Given the description of an element on the screen output the (x, y) to click on. 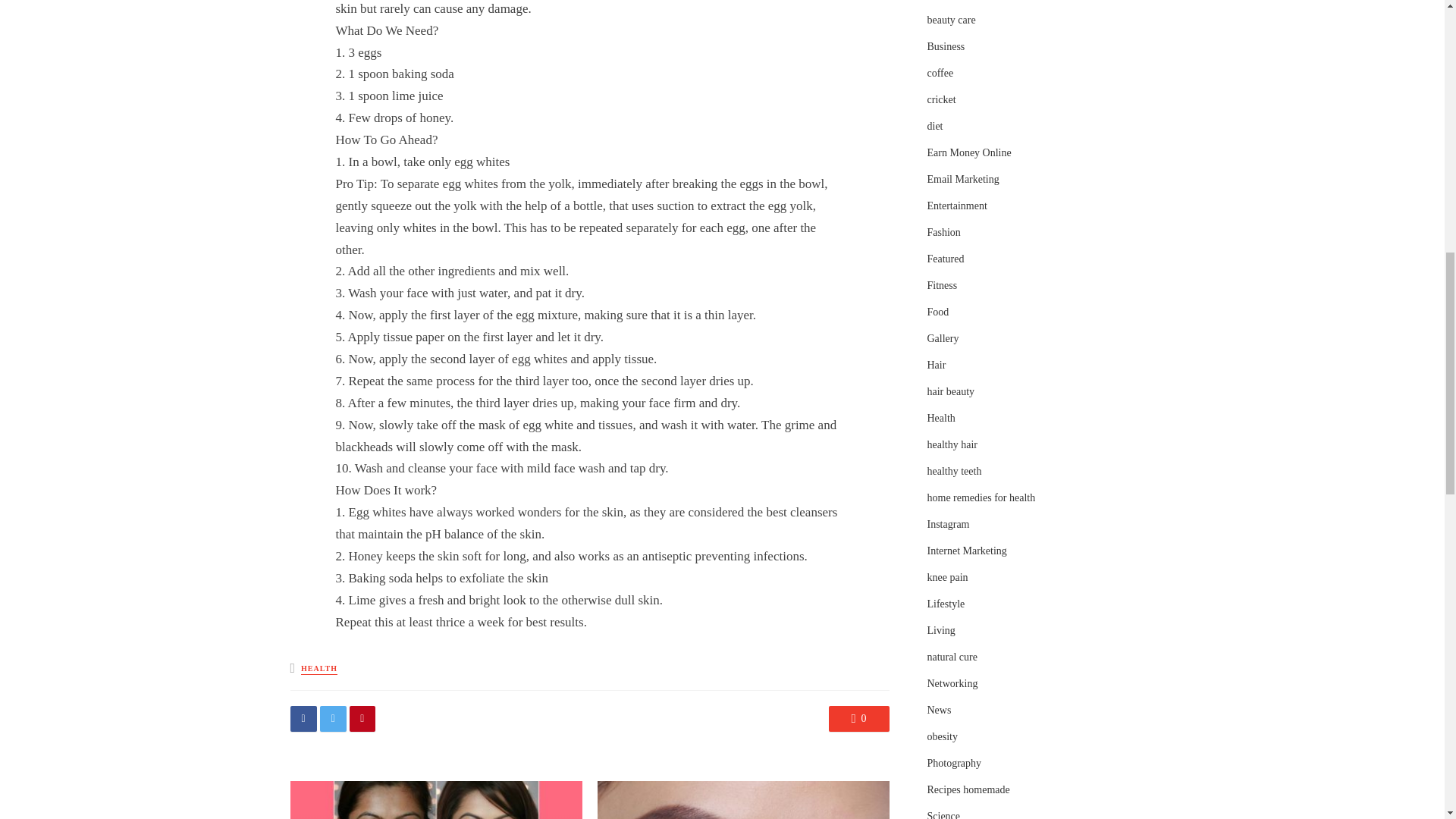
0 Comments (858, 718)
0 (858, 718)
Share on Twitter (333, 718)
Share on Facebook (302, 718)
HEALTH (319, 668)
Share on Pinterest (362, 718)
